Given the description of an element on the screen output the (x, y) to click on. 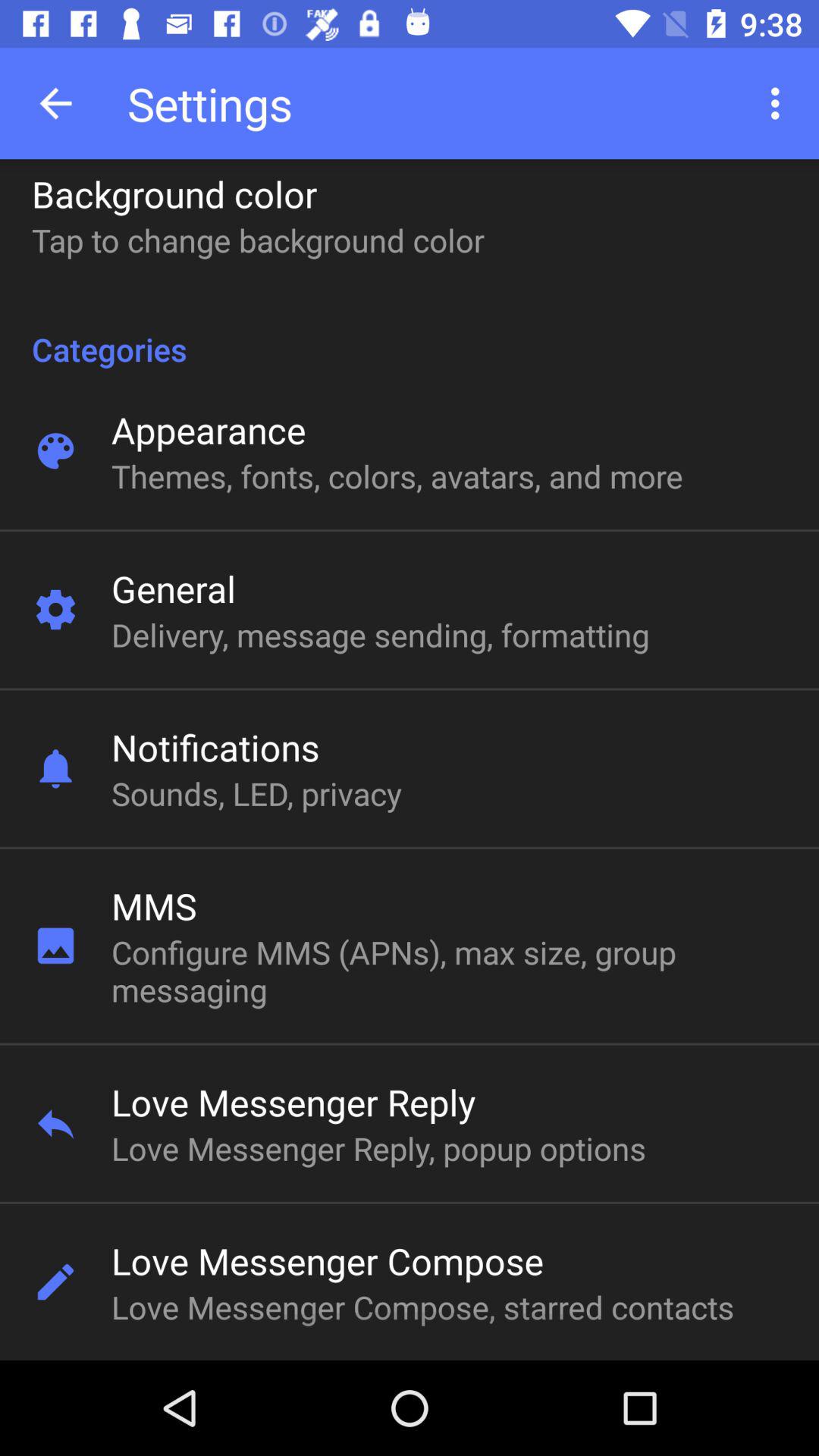
click categories icon (409, 332)
